Given the description of an element on the screen output the (x, y) to click on. 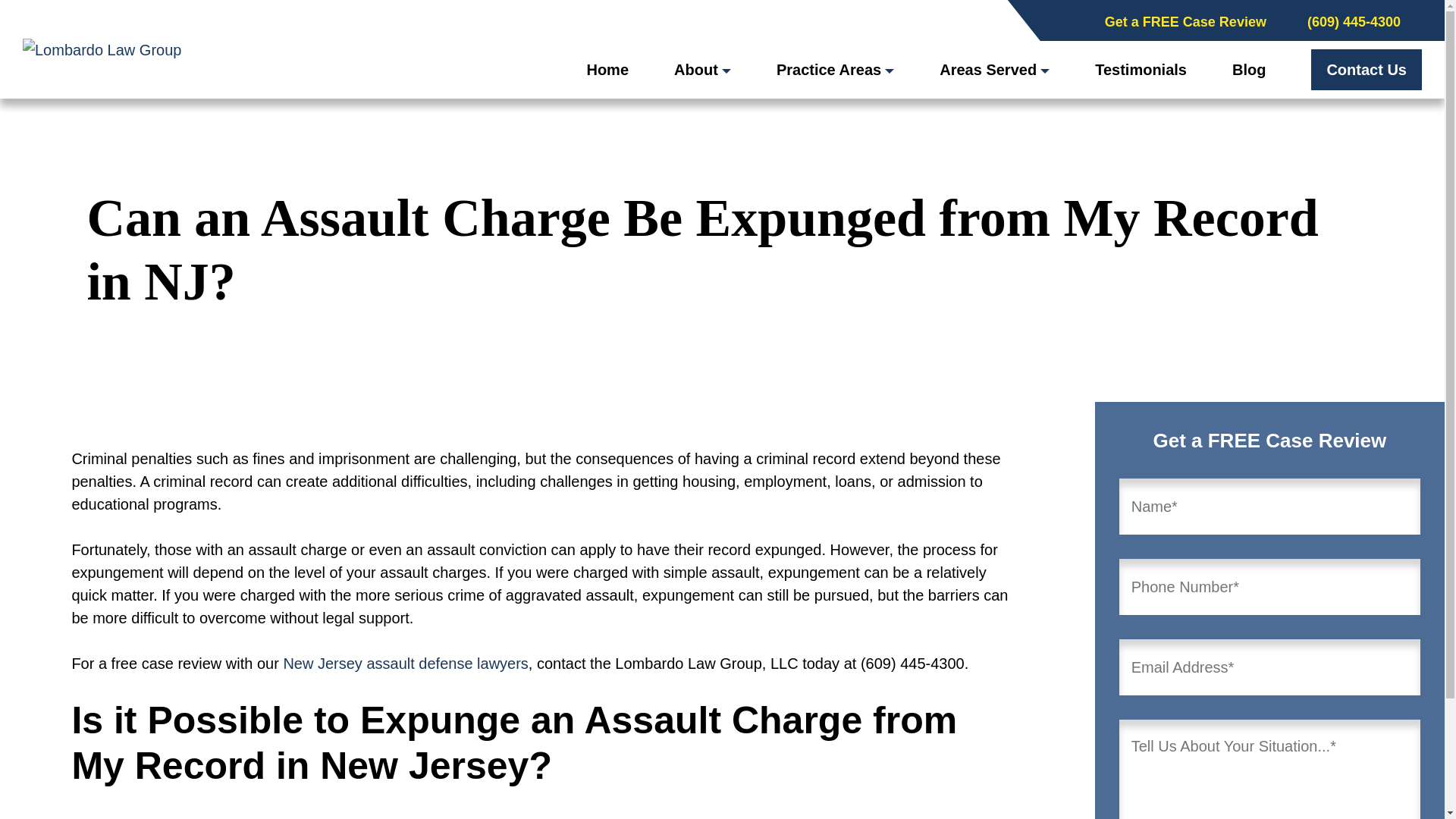
About (702, 69)
Home (607, 69)
Practice Areas (834, 69)
